Given the description of an element on the screen output the (x, y) to click on. 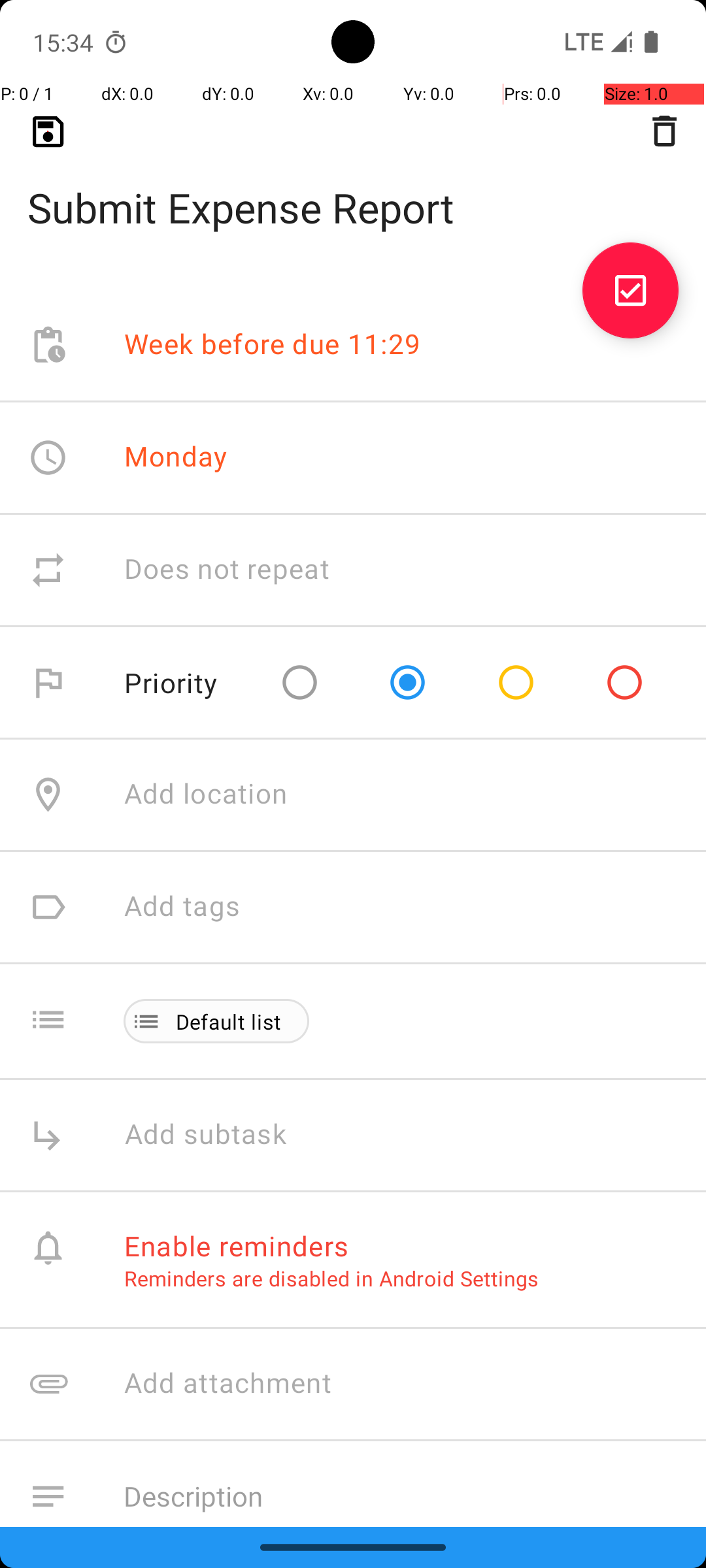
Week before due 11:29 Element type: android.widget.TextView (272, 344)
